Given the description of an element on the screen output the (x, y) to click on. 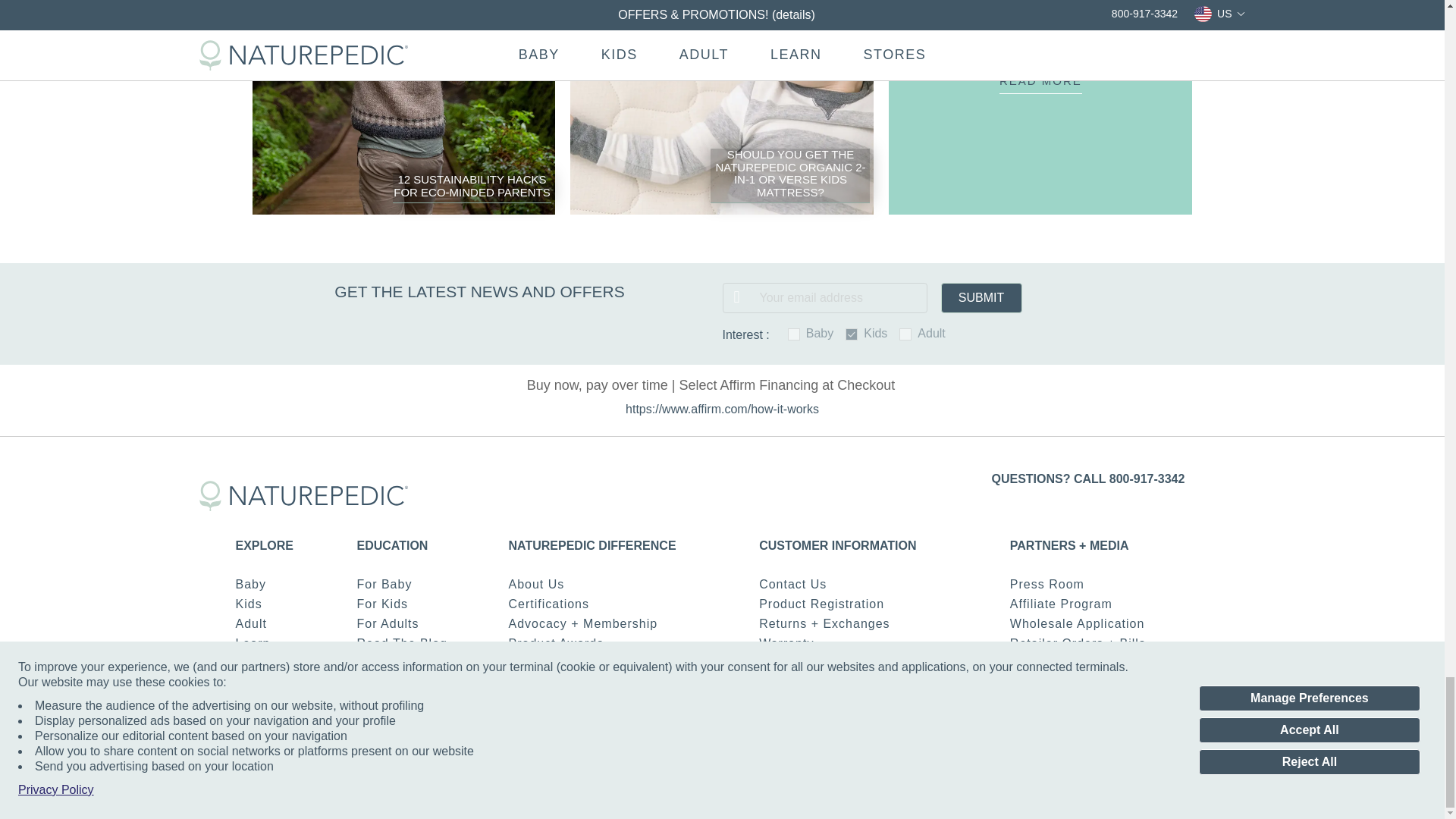
on (851, 334)
on (793, 334)
on (905, 334)
